Given the description of an element on the screen output the (x, y) to click on. 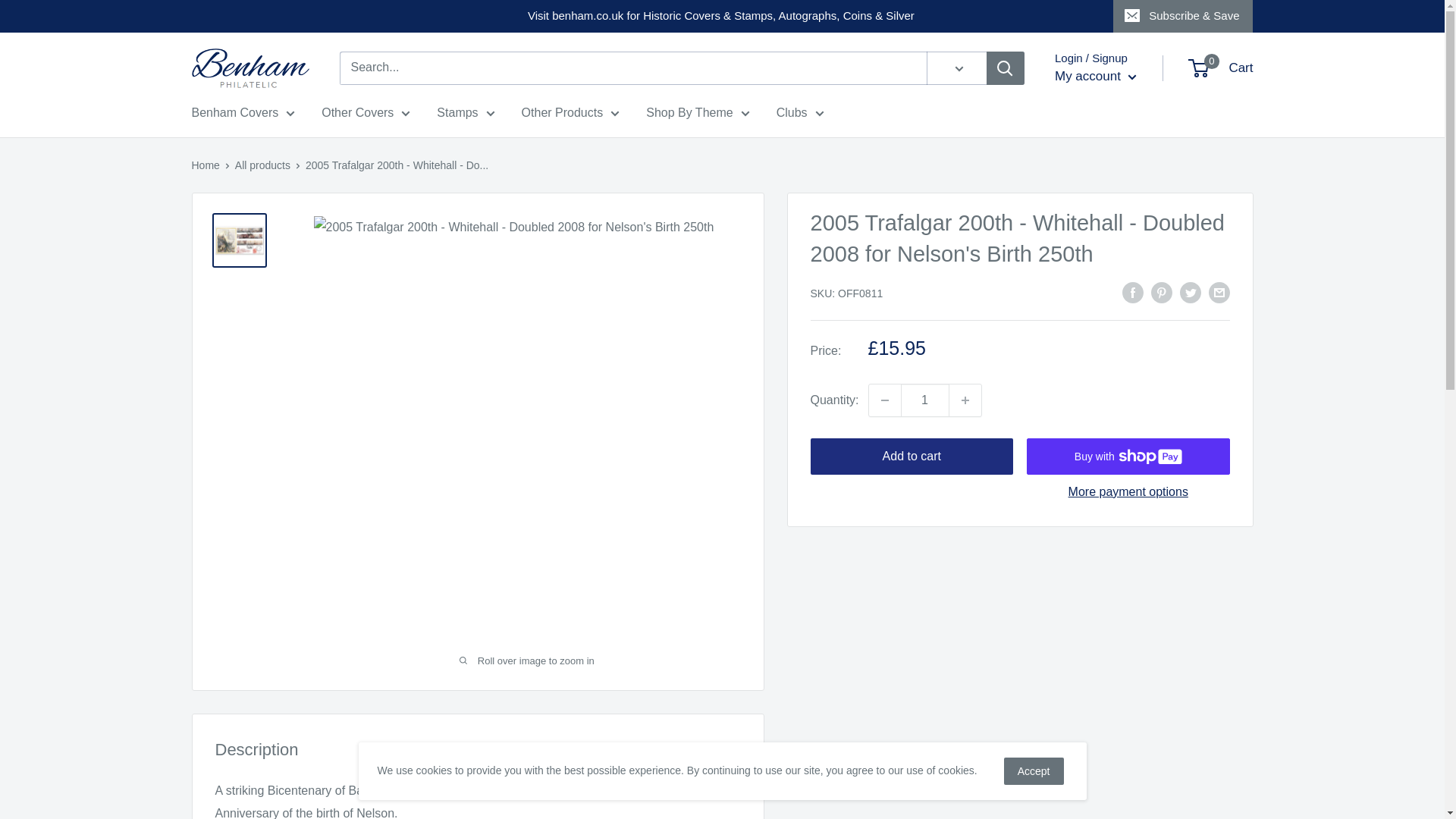
Increase quantity by 1 (965, 400)
1 (925, 400)
Decrease quantity by 1 (885, 400)
